Given the description of an element on the screen output the (x, y) to click on. 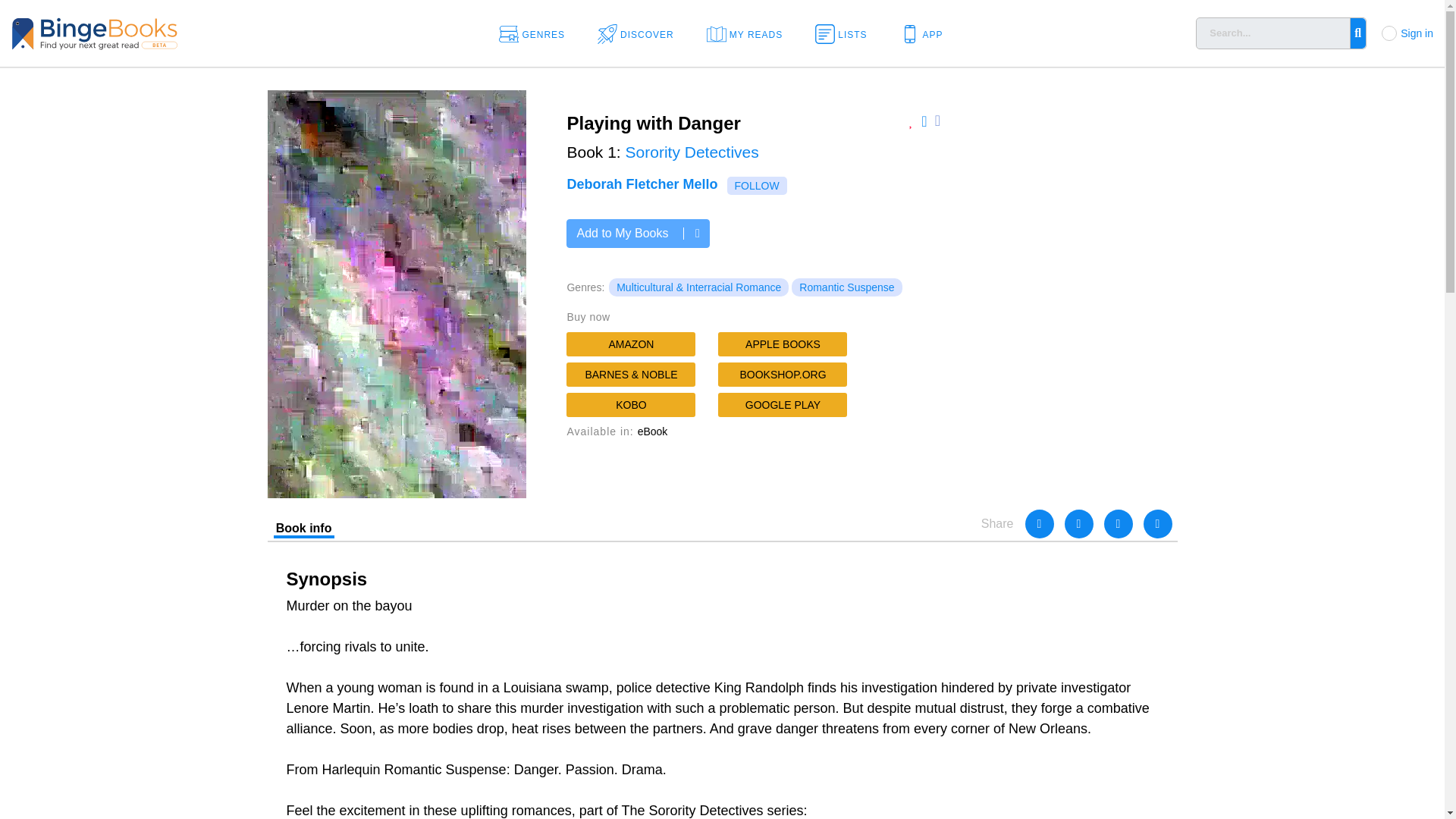
AMAZON (630, 344)
Sign in (1416, 33)
DISCOVER (640, 33)
Genres (537, 33)
Deborah Fletcher Mello (641, 183)
Sorority Detectives (692, 151)
BOOKSHOP.ORG (782, 374)
APPLE BOOKS (782, 344)
My reads (749, 33)
Romantic Suspense (846, 287)
